Given the description of an element on the screen output the (x, y) to click on. 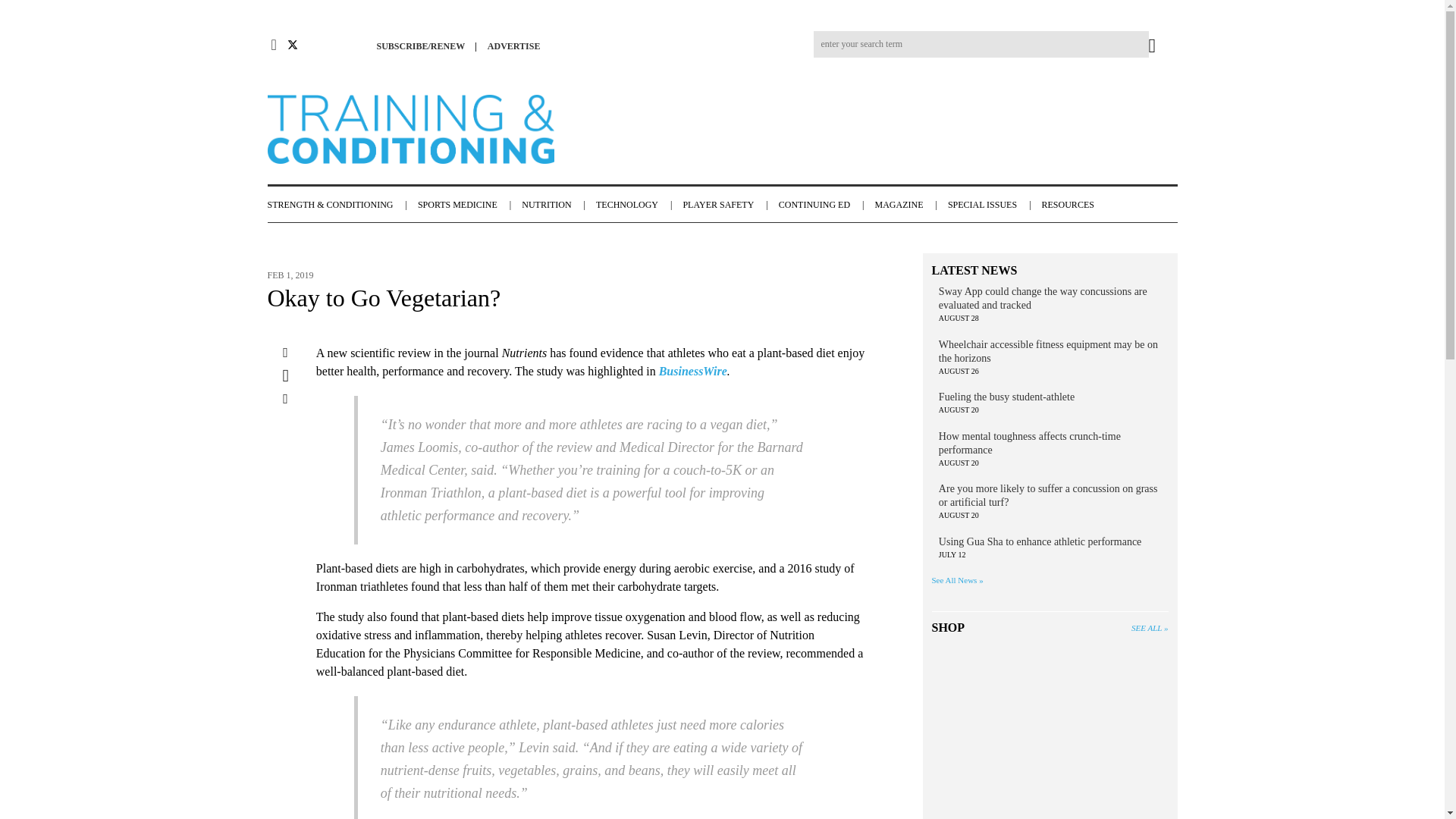
CONTINUING ED (825, 204)
SPORTS MEDICINE (467, 204)
SPECIAL ISSUES (993, 204)
NUTRITION (556, 204)
RESOURCES (1075, 204)
PLAYER SAFETY (728, 204)
MAGAZINE (909, 204)
TECHNOLOGY (637, 204)
